Given the description of an element on the screen output the (x, y) to click on. 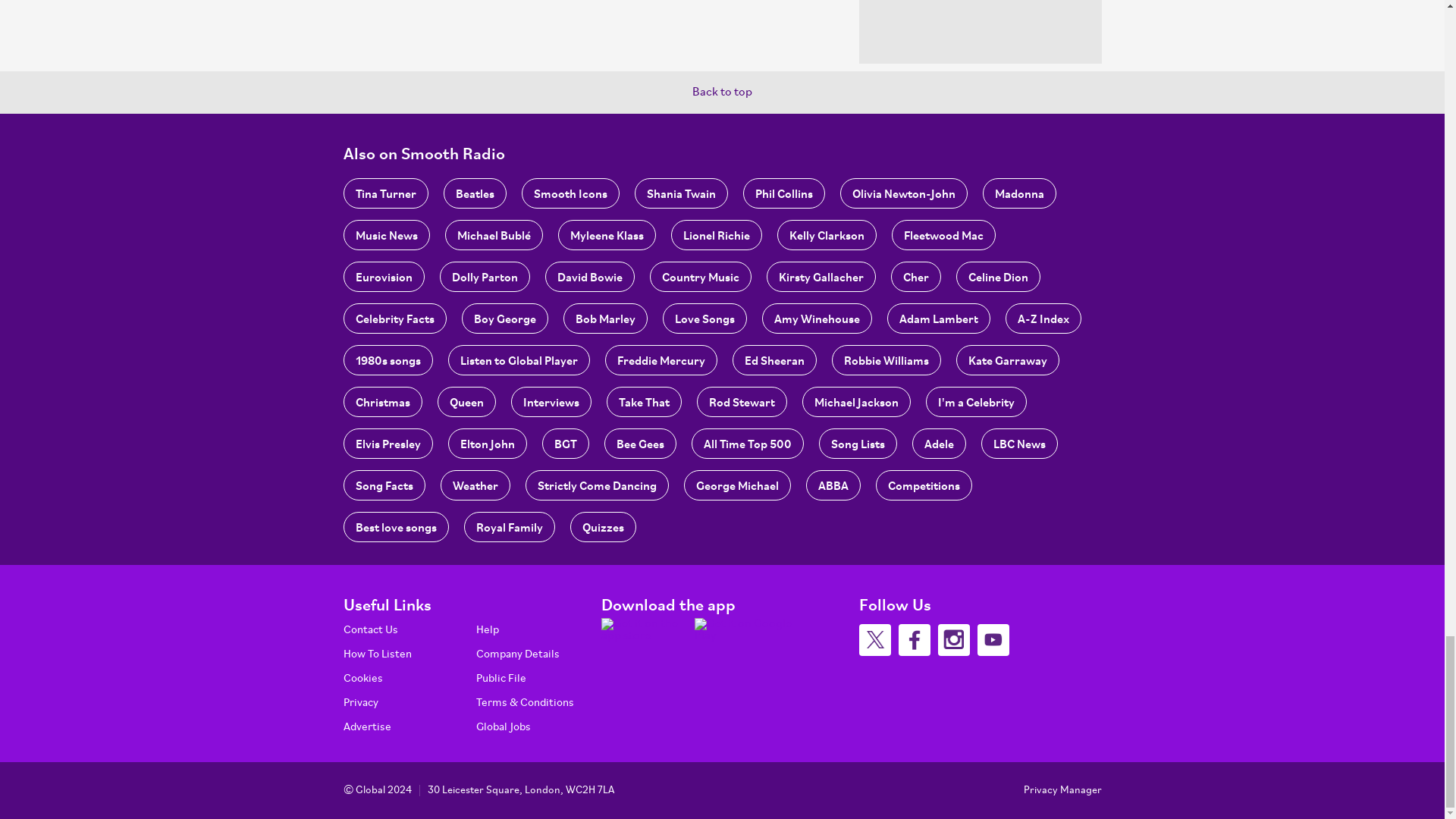
Follow Smooth on Instagram (953, 640)
Follow Smooth on X (874, 640)
Follow Smooth on Facebook (914, 640)
Back to top (722, 92)
Follow Smooth on Youtube (992, 640)
